Given the description of an element on the screen output the (x, y) to click on. 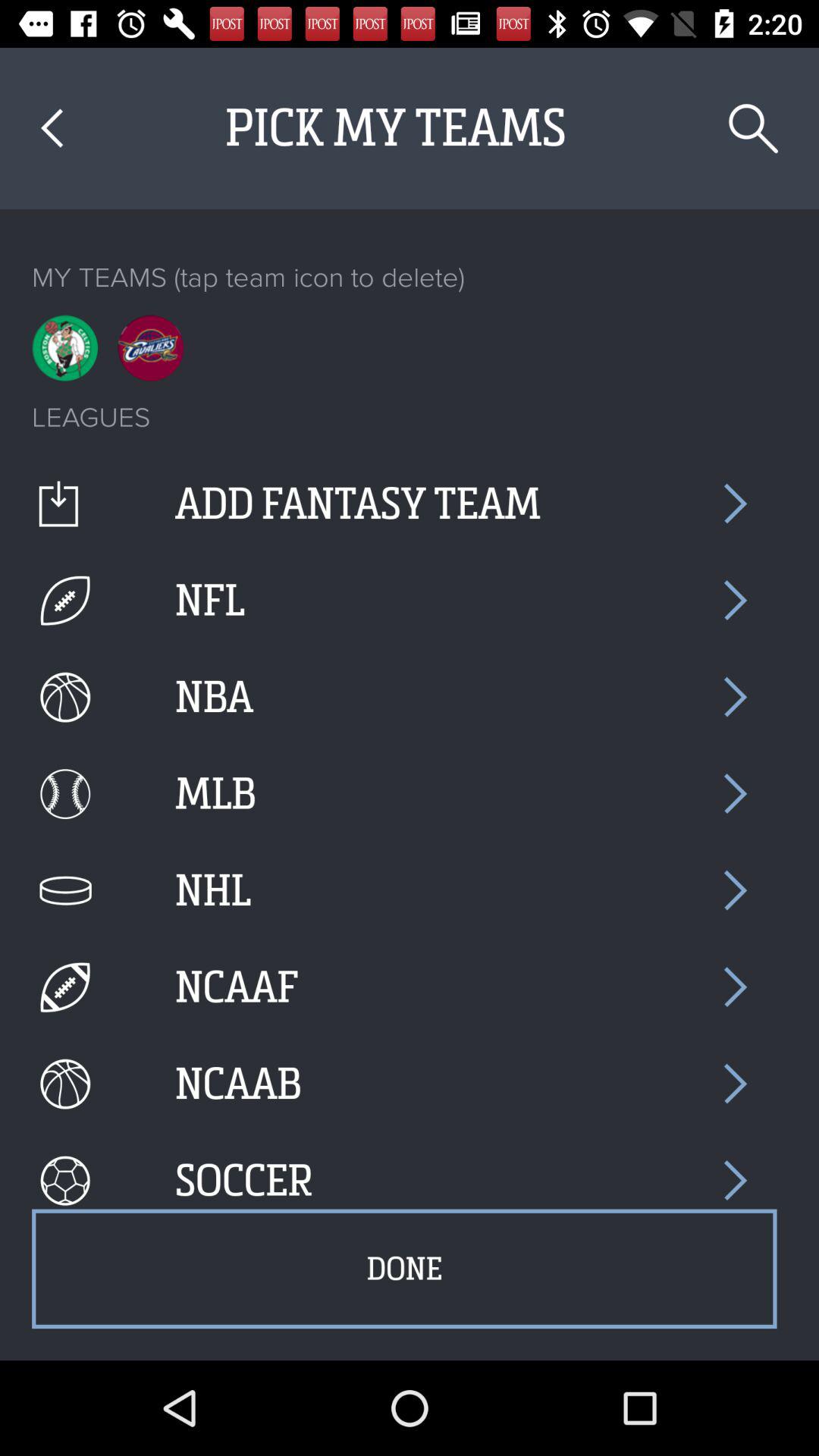
turn off the icon next to the pick my teams icon (51, 128)
